Given the description of an element on the screen output the (x, y) to click on. 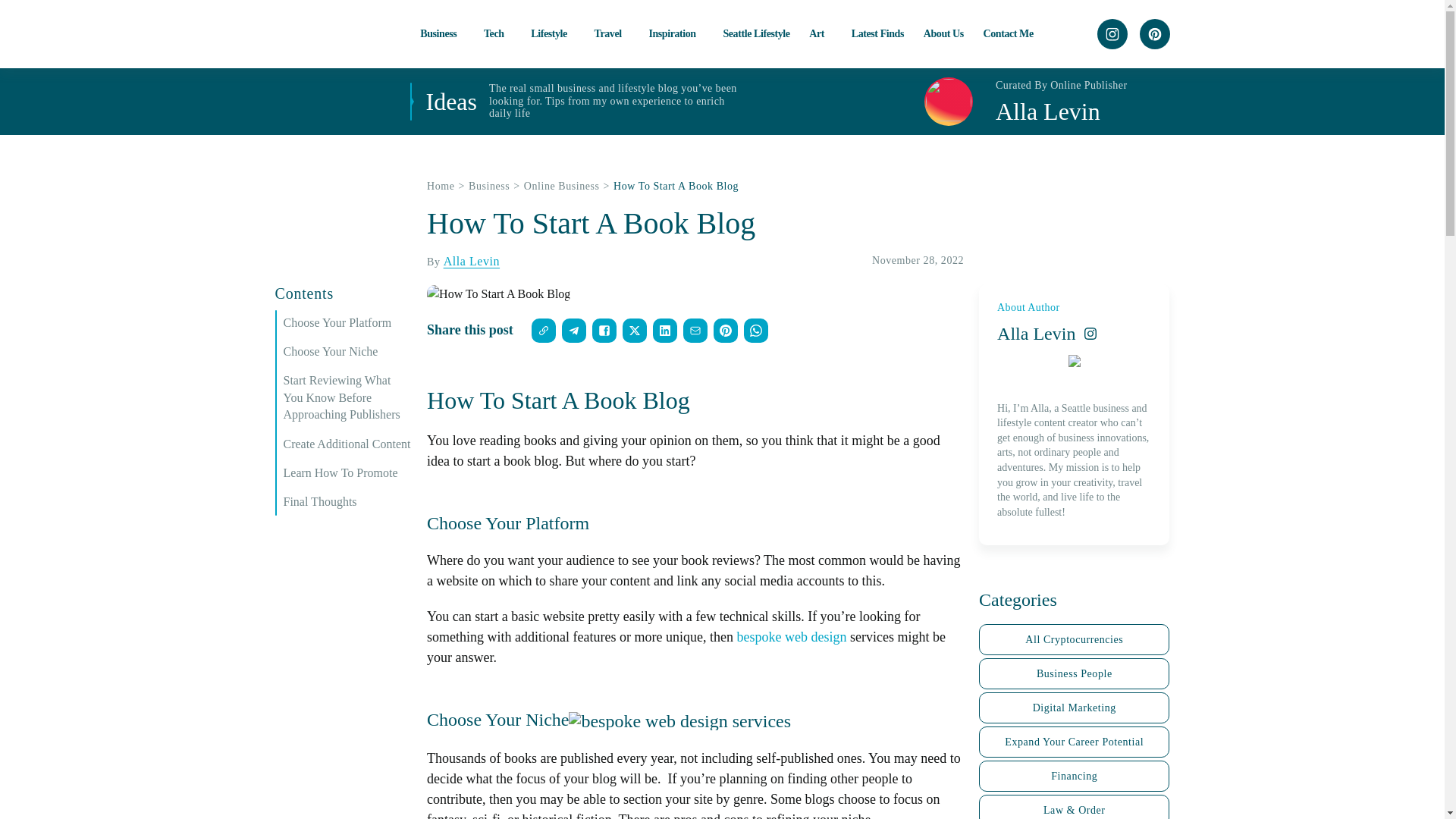
Create Additional Content (347, 443)
Business (442, 33)
Choose Your Niche (347, 351)
Tech (497, 33)
Travel (611, 33)
Final Thoughts (347, 501)
Lifestyle (553, 33)
Inspiration (675, 33)
Choose Your Platform (347, 322)
Learn How To Promote (347, 473)
